Given the description of an element on the screen output the (x, y) to click on. 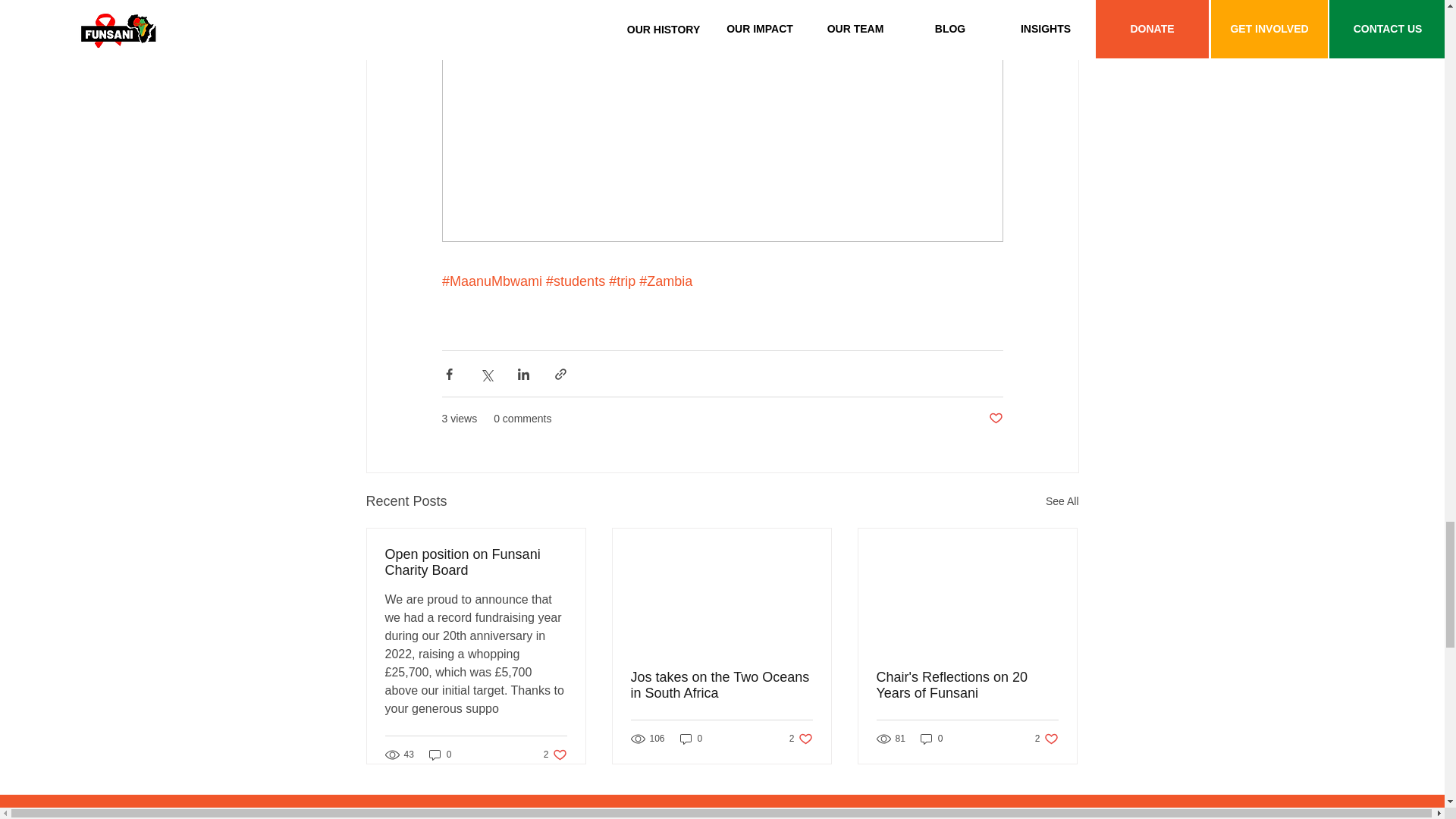
0 (555, 754)
See All (800, 739)
0 (691, 739)
Post not marked as liked (1061, 501)
Jos takes on the Two Oceans in South Africa (440, 754)
Open position on Funsani Charity Board (1046, 739)
Chair's Reflections on 20 Years of Funsani (995, 418)
